Given the description of an element on the screen output the (x, y) to click on. 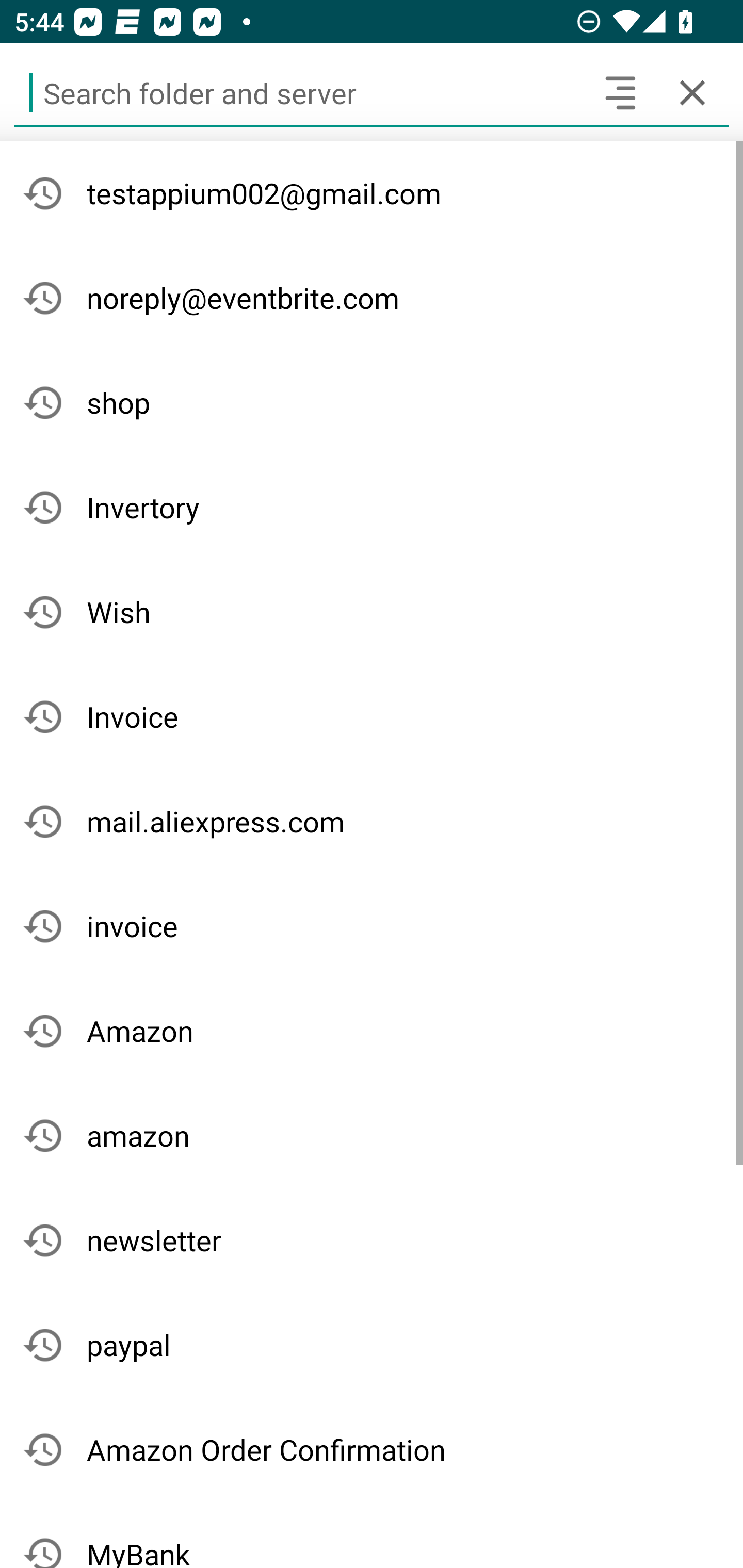
   Search folder and server (298, 92)
Search headers and text (619, 92)
Cancel (692, 92)
